Given the description of an element on the screen output the (x, y) to click on. 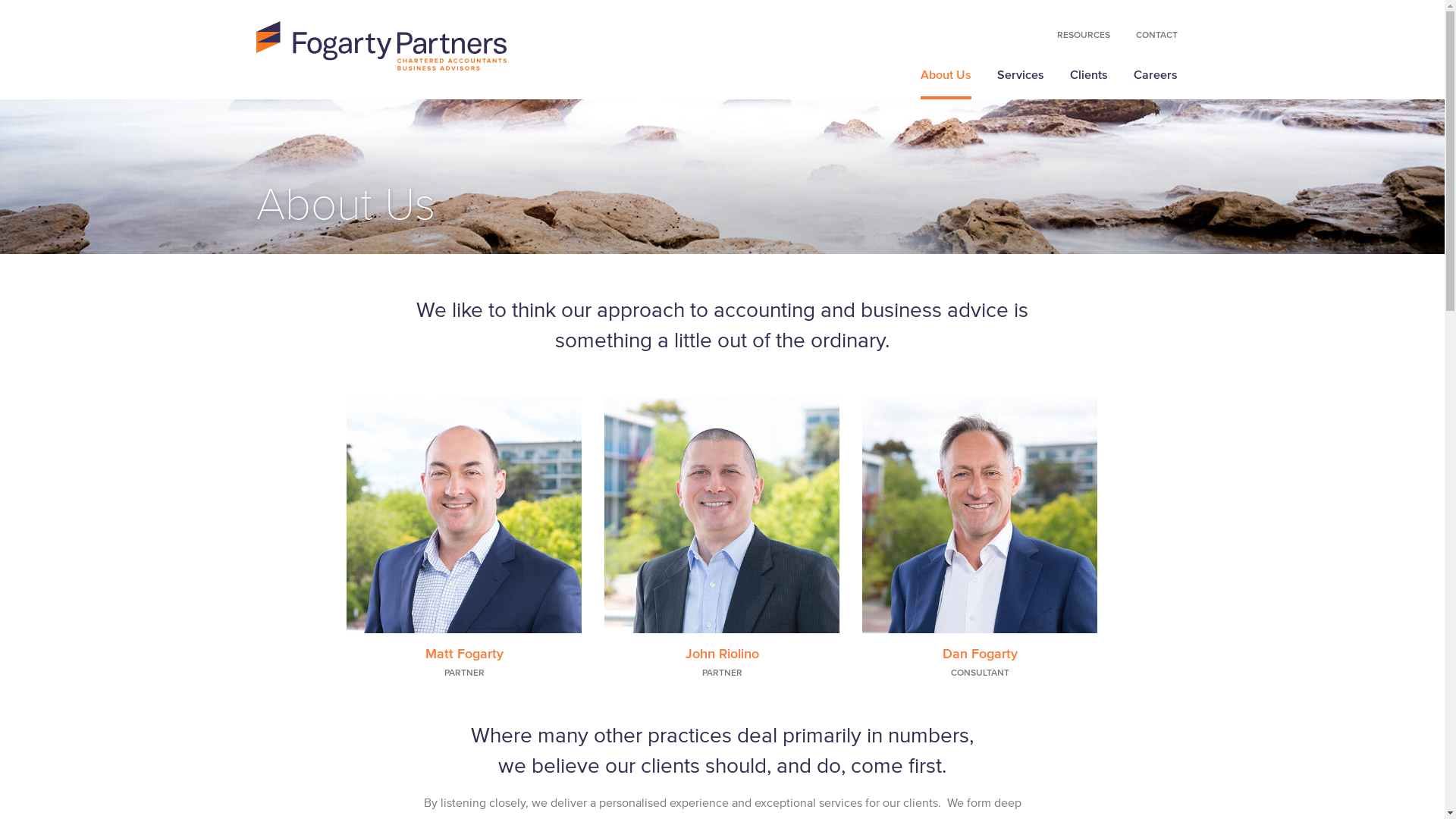
Services Element type: text (1019, 80)
Careers Element type: text (1154, 80)
Dan Fogarty
CONSULTANT Element type: text (979, 538)
Matt Fogarty
PARTNER Element type: text (463, 538)
RESOURCES Element type: text (1083, 40)
About Us Element type: text (945, 80)
CONTACT Element type: text (1156, 40)
Clients Element type: text (1088, 80)
John Riolino
PARTNER Element type: text (721, 538)
